Given the description of an element on the screen output the (x, y) to click on. 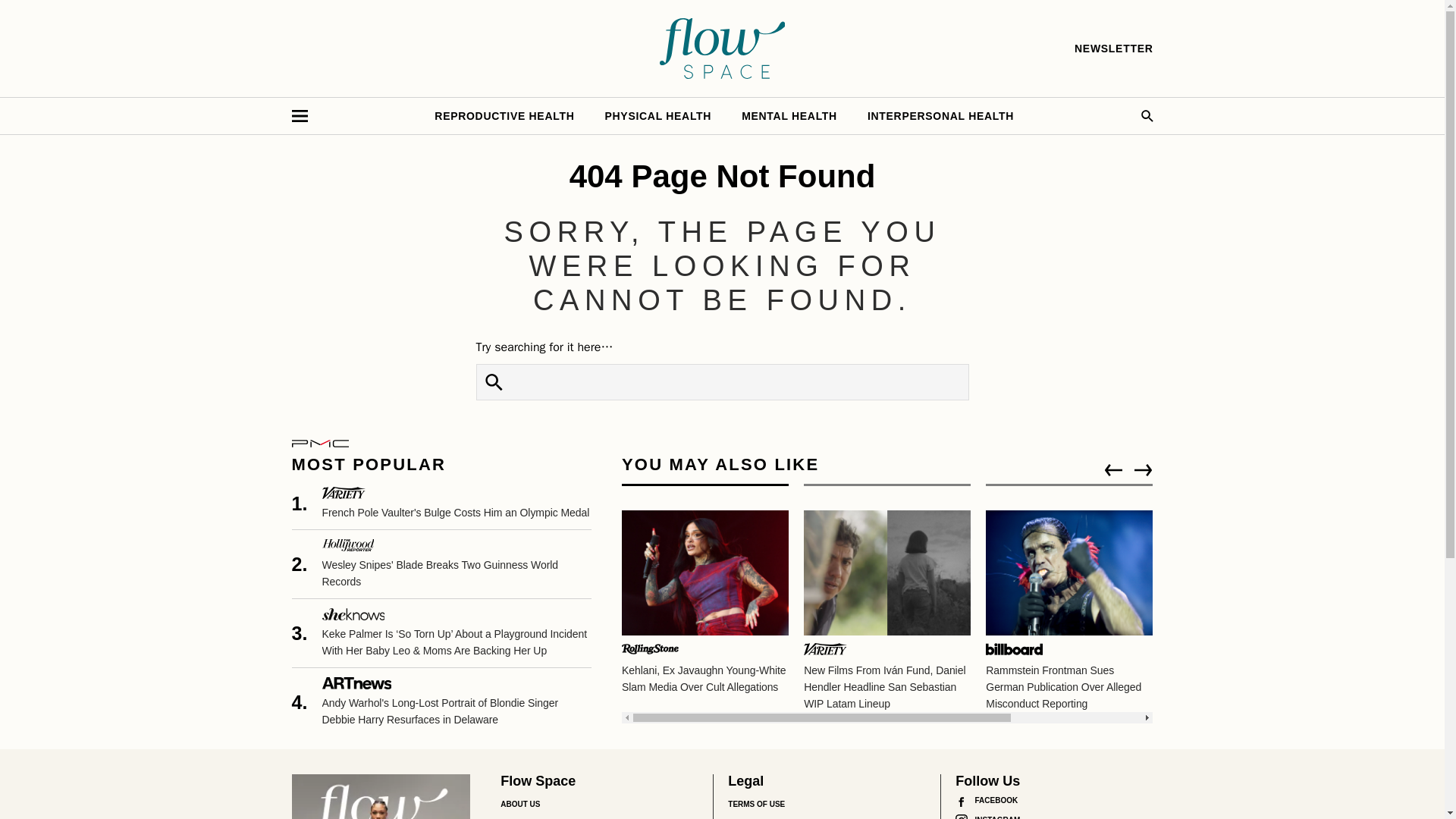
Submit (494, 381)
PHYSICAL HEALTH (658, 115)
NEWSLETTER (1113, 48)
REPRODUCTIVE HEALTH (503, 115)
INTERPERSONAL HEALTH (940, 115)
MENTAL HEALTH (789, 115)
